Given the description of an element on the screen output the (x, y) to click on. 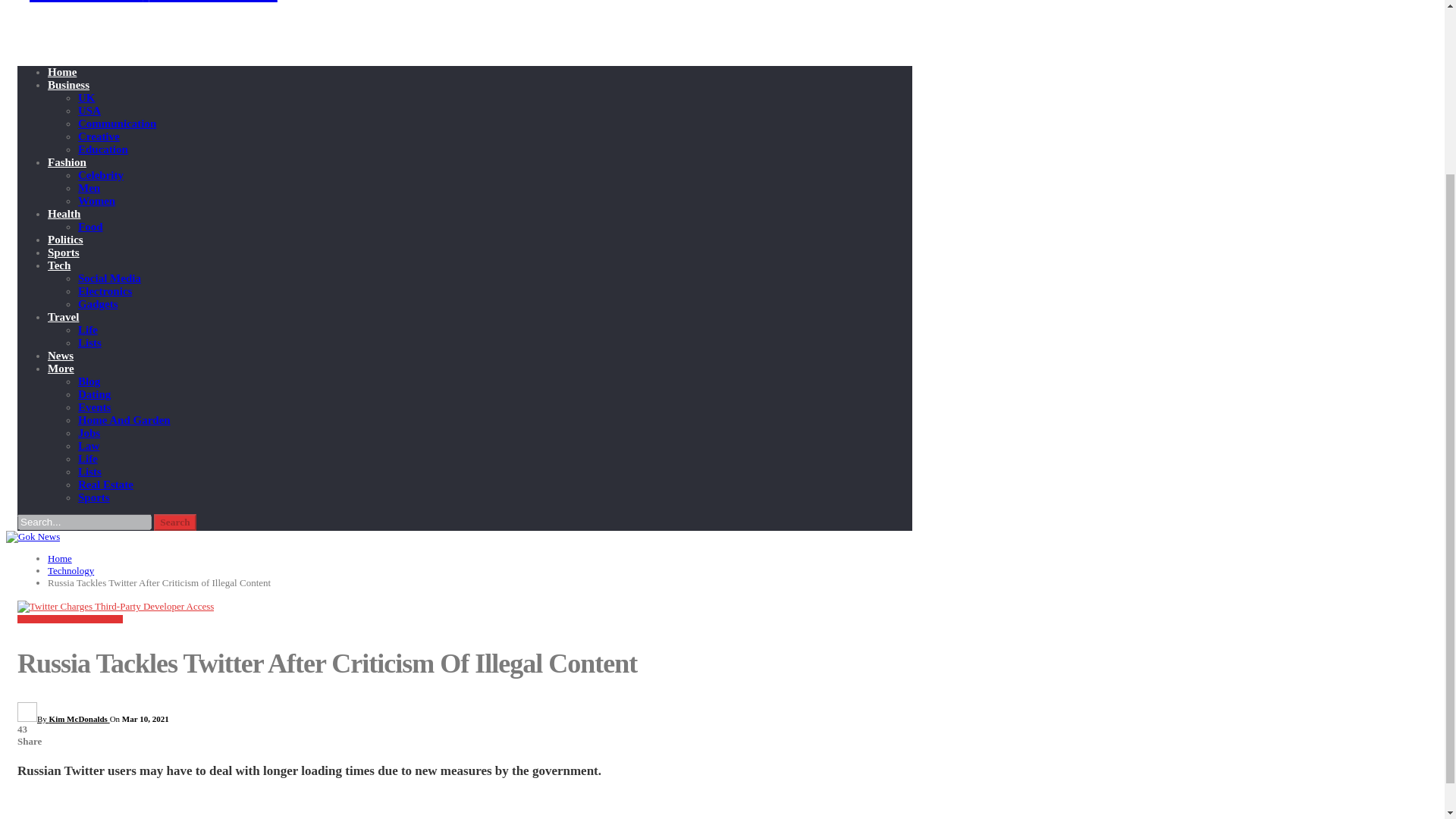
Dating (94, 394)
Celebrity (100, 174)
Social Media (109, 277)
Browse Author Articles (63, 718)
Gok News - (147, 2)
Gadgets (97, 304)
Blog (89, 381)
Women (96, 200)
USA (89, 110)
Home (62, 71)
Health (64, 214)
Lists (89, 342)
Search (175, 522)
Education (103, 149)
Life (87, 329)
